Given the description of an element on the screen output the (x, y) to click on. 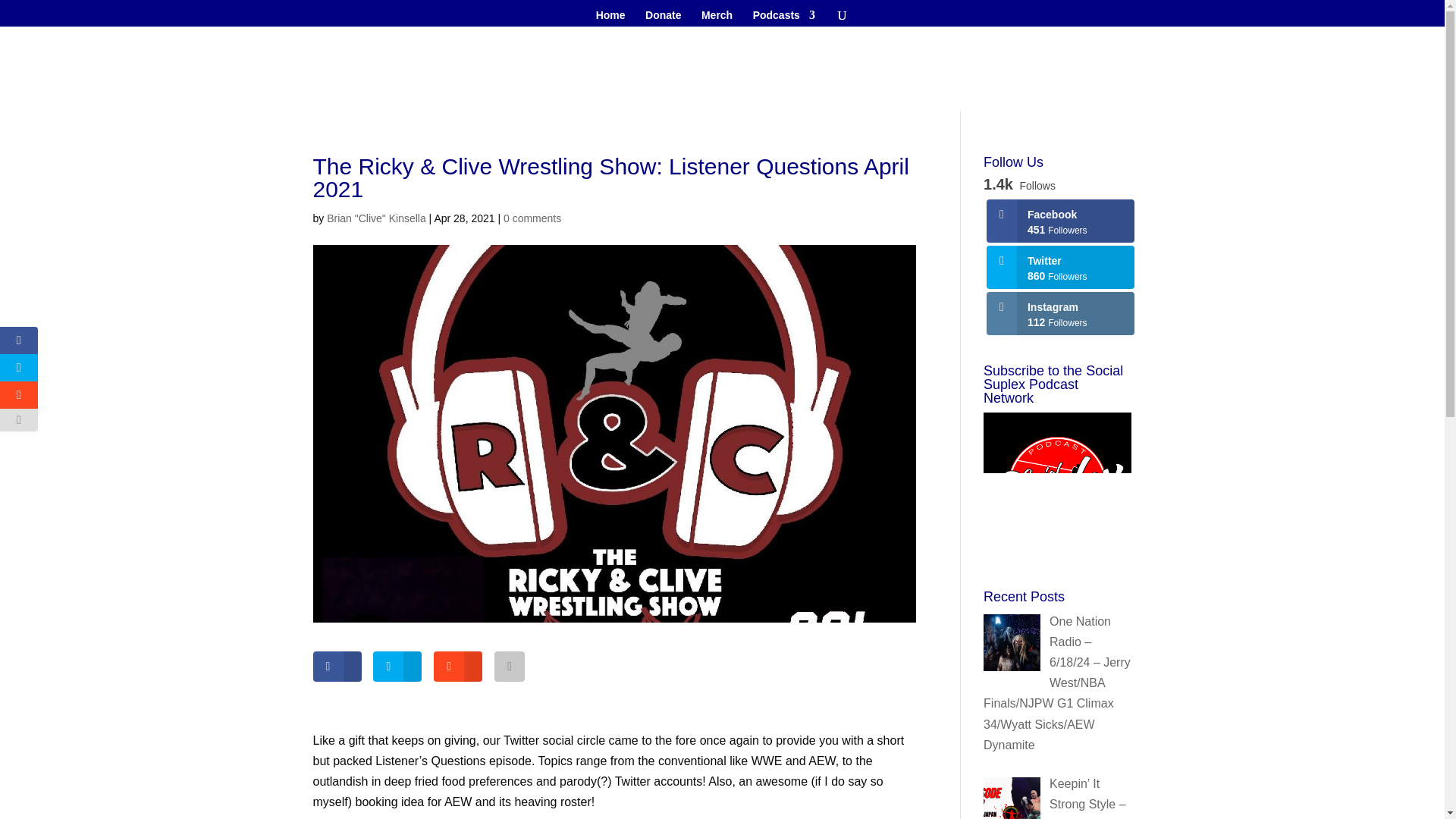
Brian "Clive" Kinsella (376, 218)
Home (610, 17)
Twitter 860 Followers (1060, 267)
Donate (663, 17)
Instagram 112 Followers (1060, 312)
Posts by Brian "Clive" Kinsella (376, 218)
Merch (716, 17)
Subscribe to the Social Suplex Podcast Network (1057, 486)
Facebook 451 Followers (1060, 220)
0 comments (531, 218)
